Given the description of an element on the screen output the (x, y) to click on. 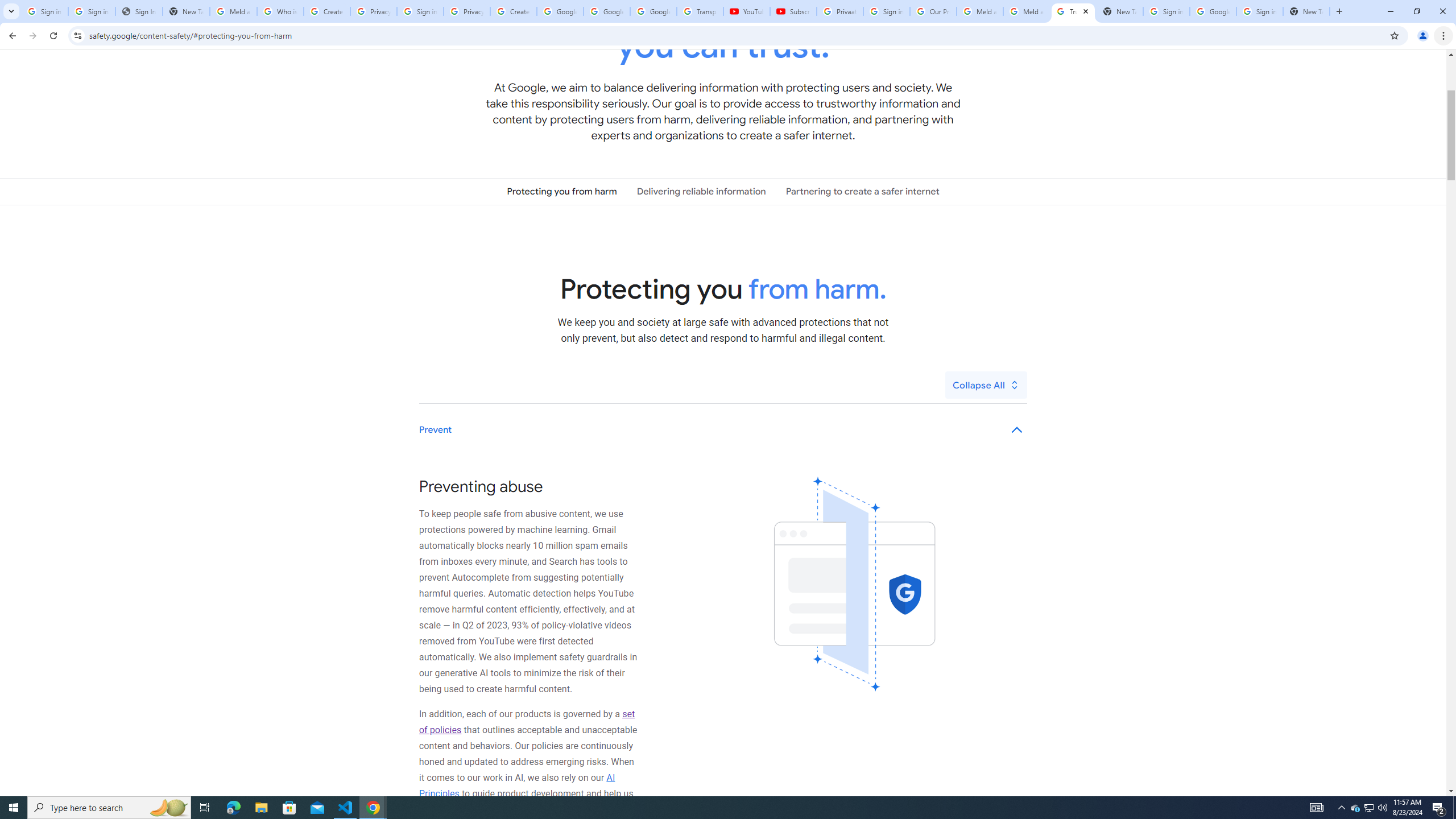
Delivering reliable information (700, 191)
Trusted Information and Content - Google Safety Center (1073, 11)
Partnering to create a safer internet (862, 191)
Google Cybersecurity Innovations - Google Safety Center (1213, 11)
Sign In - USA TODAY (138, 11)
Prevent (723, 429)
Collapse All (985, 384)
AI Principles (517, 785)
